Given the description of an element on the screen output the (x, y) to click on. 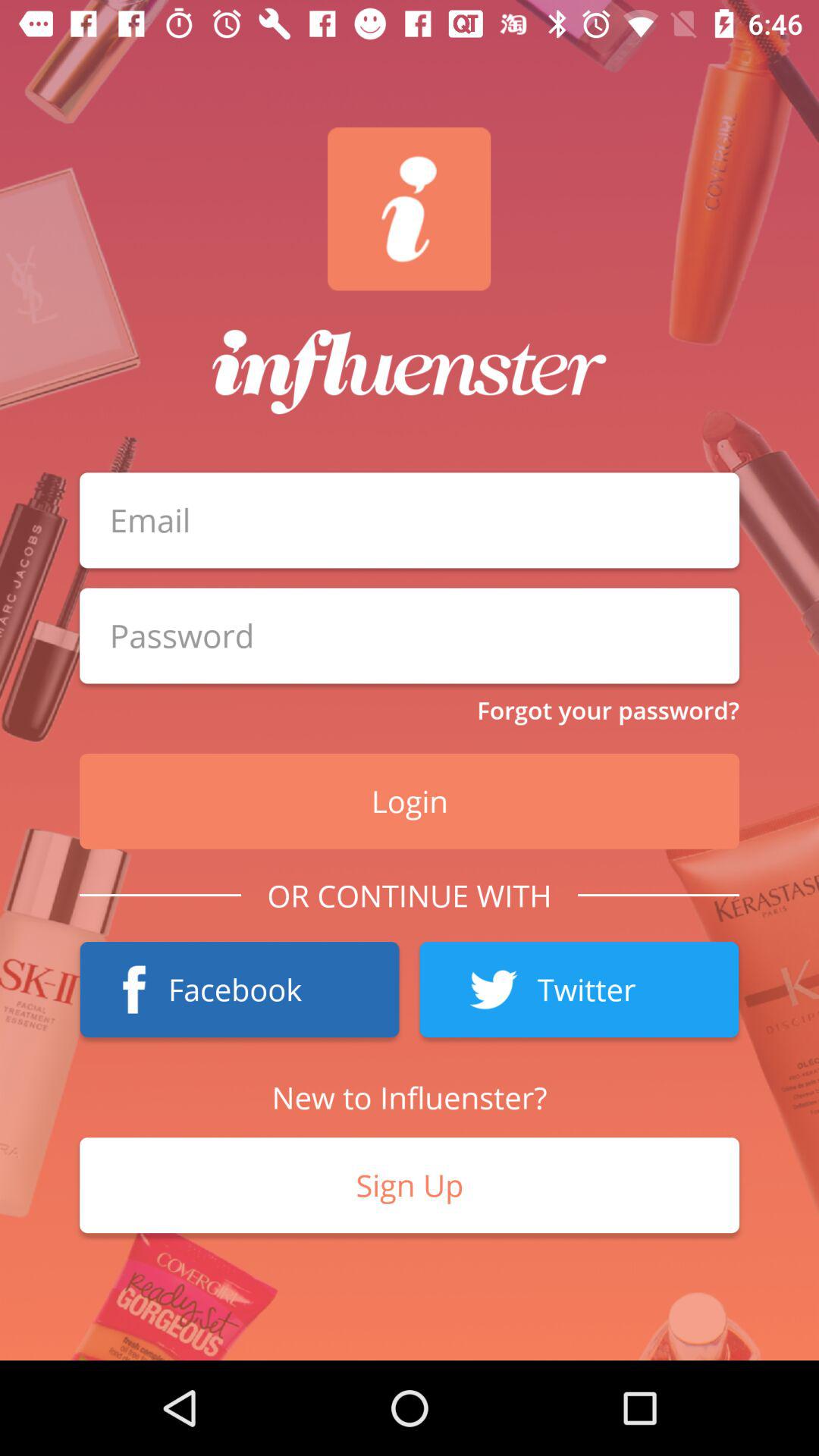
address of mail id given (409, 520)
